Given the description of an element on the screen output the (x, y) to click on. 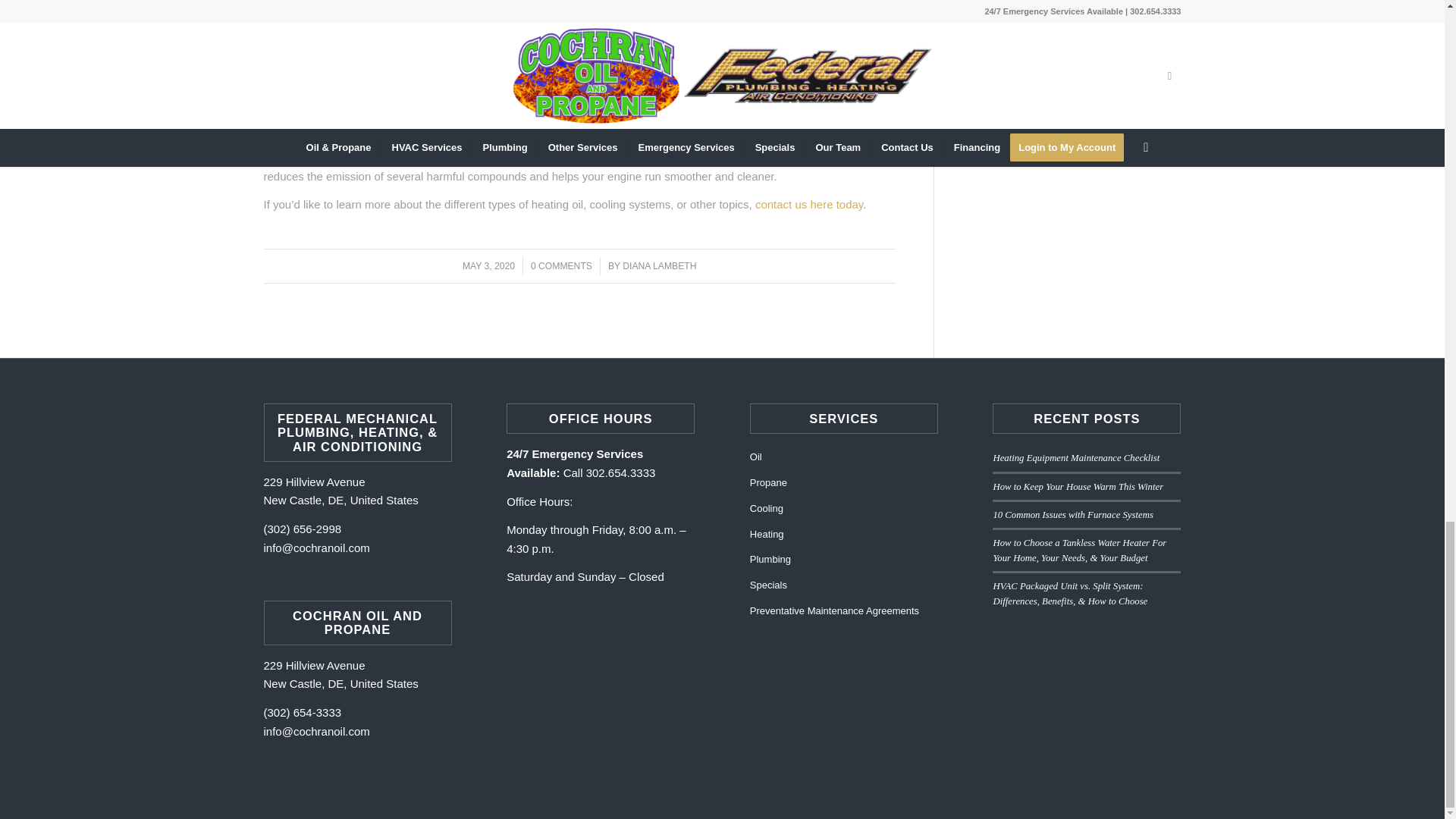
contact us here today (809, 204)
DIANA LAMBETH (659, 266)
0 COMMENTS (561, 266)
Posts by Diana Lambeth (659, 266)
must be clearly labeled (630, 72)
